Given the description of an element on the screen output the (x, y) to click on. 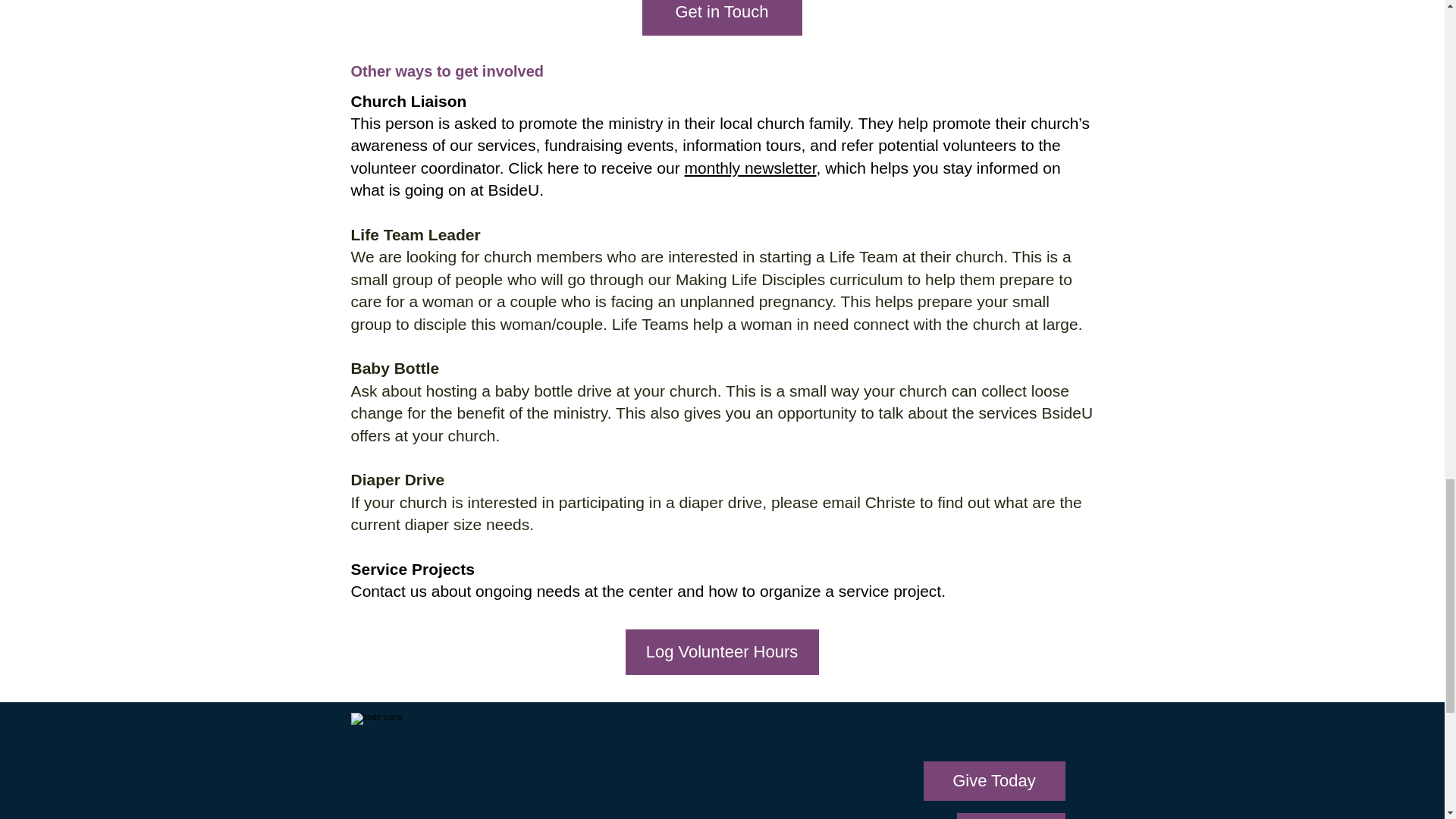
monthly newsletter (750, 167)
Get in Touch (722, 18)
Log Volunteer Hours (721, 651)
Newsletters (1010, 816)
Give Today (994, 780)
